Given the description of an element on the screen output the (x, y) to click on. 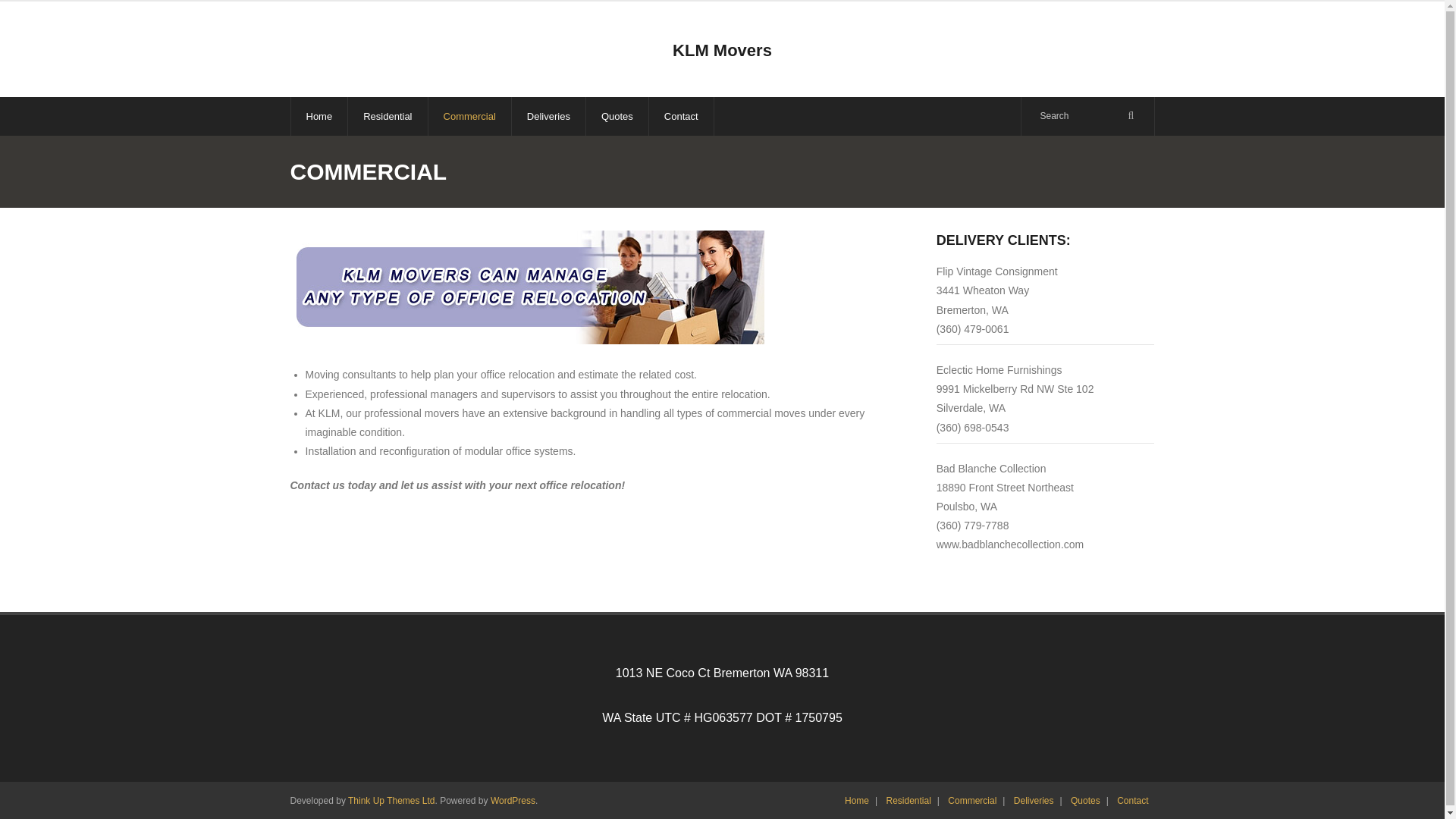
Residential (907, 800)
KLM Movers (721, 51)
Contact (1132, 800)
Search (33, 15)
Deliveries (548, 116)
Think Up Themes Ltd (391, 800)
www.badblanchecollection.com (1010, 544)
Deliveries (1033, 800)
Residential (386, 116)
Home (318, 116)
Quotes (616, 116)
Quotes (1085, 800)
KLM Movers (721, 50)
Commercial (972, 800)
WordPress (512, 800)
